Given the description of an element on the screen output the (x, y) to click on. 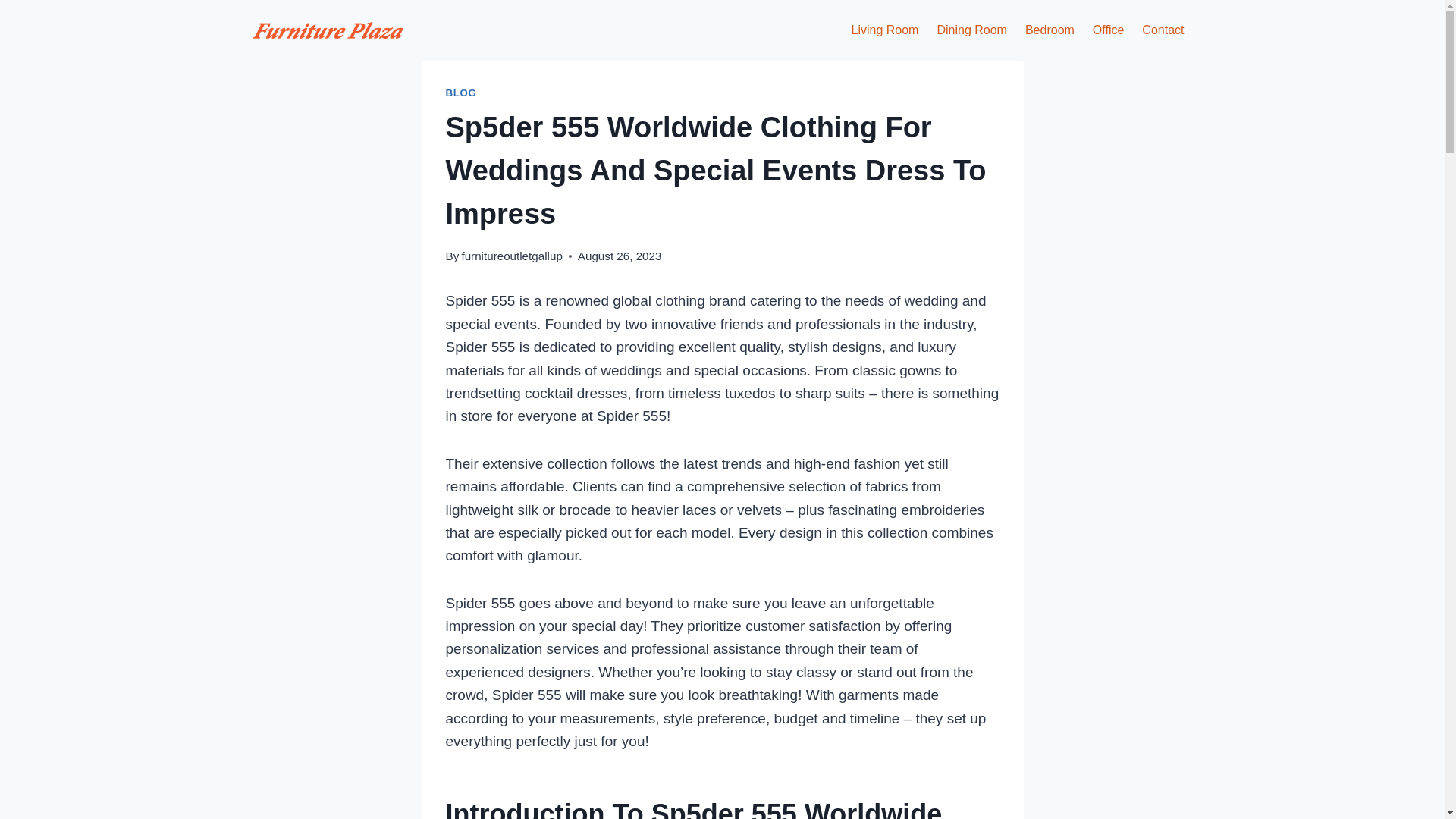
Contact (1162, 30)
Bedroom (1049, 30)
Dining Room (970, 30)
Office (1108, 30)
BLOG (461, 92)
Living Room (885, 30)
furnitureoutletgallup (511, 255)
